Given the description of an element on the screen output the (x, y) to click on. 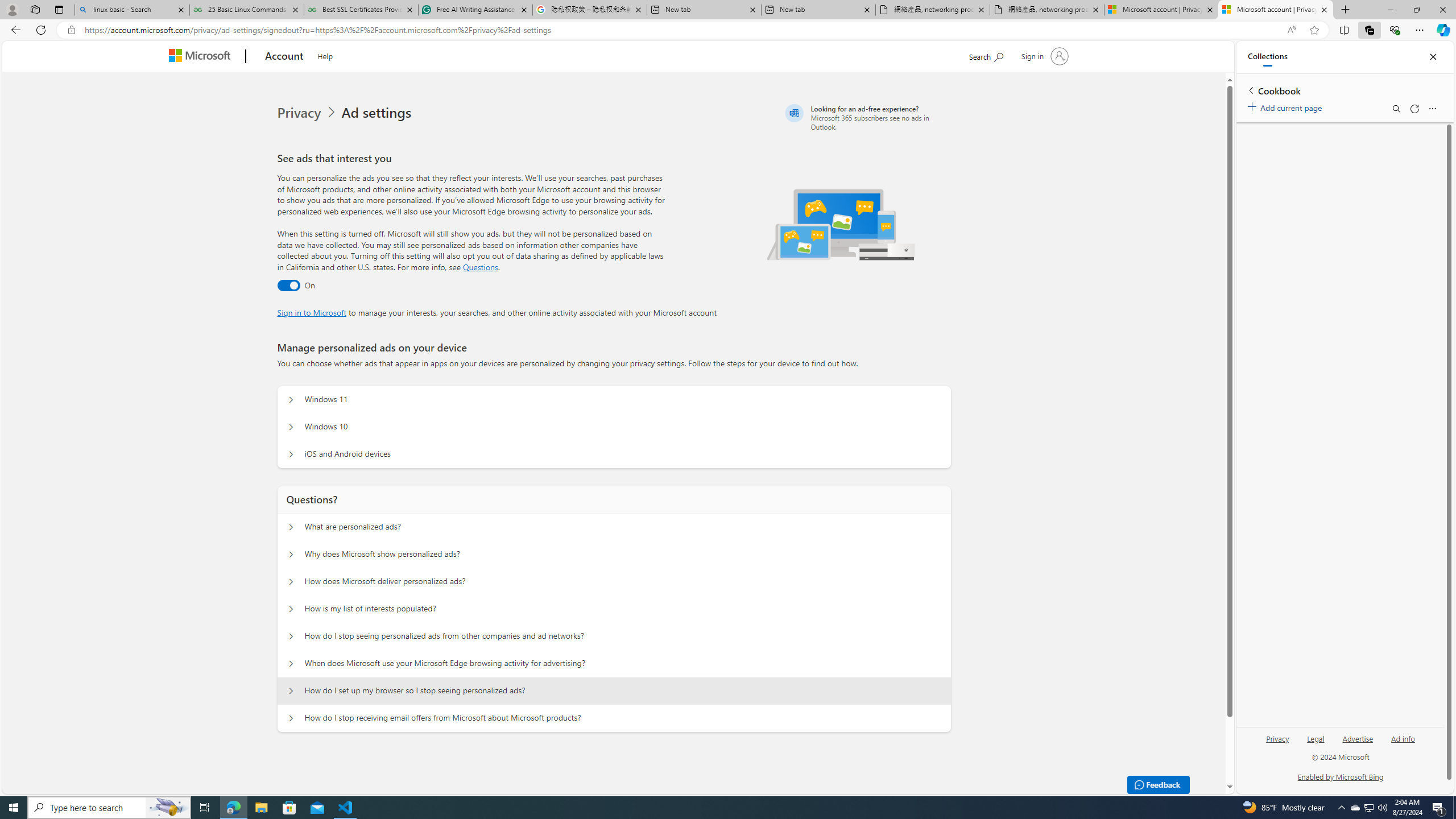
Privacy (1278, 738)
Microsoft (202, 56)
Ad settings toggle (287, 285)
Add current page (1286, 105)
Looking for an ad-free experience? (865, 117)
Help (324, 54)
Sign in to your account (1043, 55)
Manage personalized ads on your device Windows 10 (290, 427)
Search Microsoft.com (986, 54)
Ad info (1402, 738)
